Given the description of an element on the screen output the (x, y) to click on. 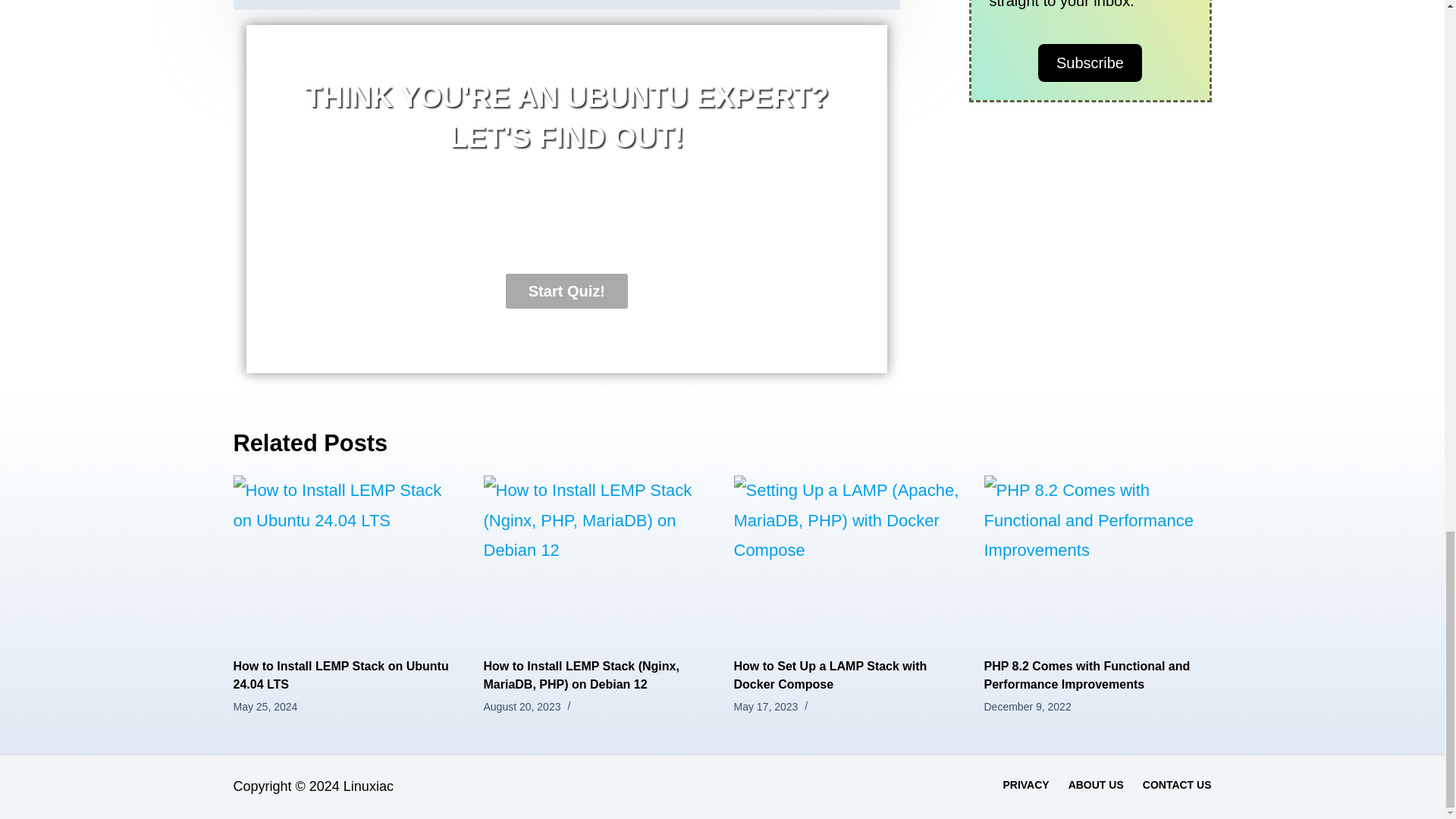
Start Quiz! (566, 290)
